Given the description of an element on the screen output the (x, y) to click on. 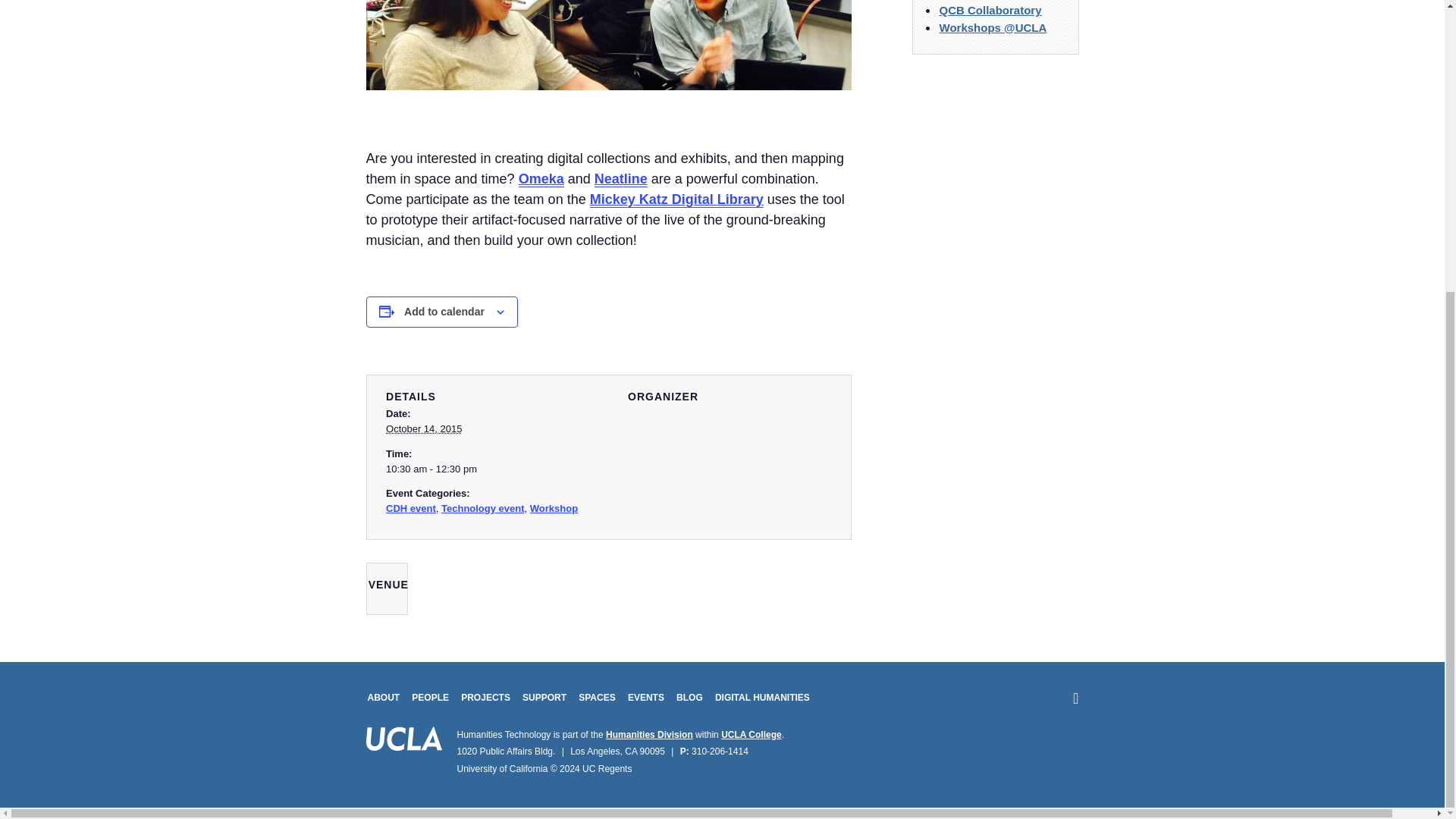
Mickey Katz Digital Library (675, 199)
2015-10-14 (423, 428)
2015-10-14 (487, 468)
Neatline (620, 179)
Omeka (541, 179)
